Given the description of an element on the screen output the (x, y) to click on. 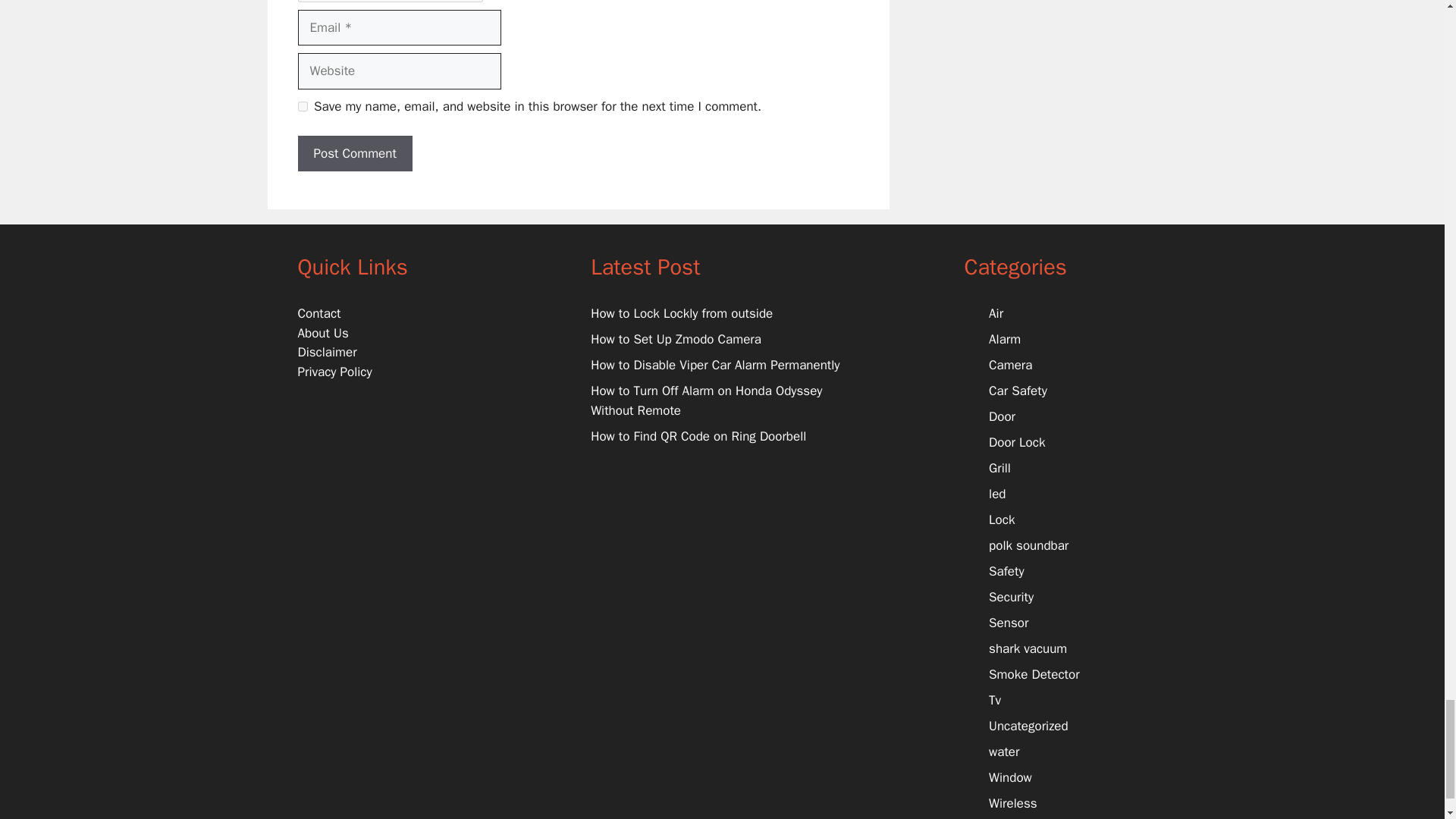
Post Comment (354, 153)
yes (302, 106)
